Given the description of an element on the screen output the (x, y) to click on. 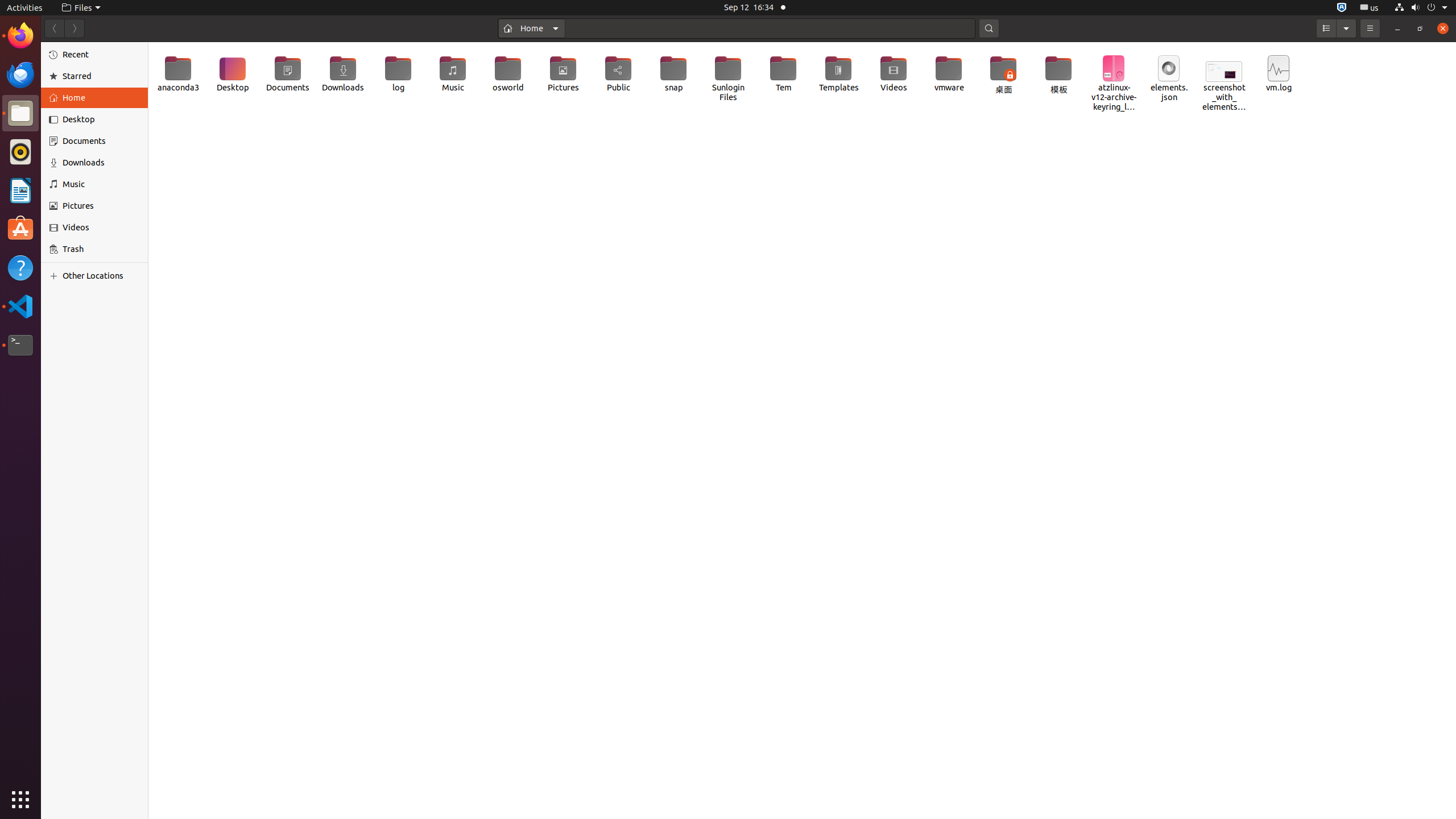
atzlinux-v12-archive-keyring_lastest_all.deb Element type: canvas (1113, 83)
anaconda3 Element type: canvas (177, 73)
Pictures Element type: canvas (562, 73)
Home Element type: label (100, 97)
